Given the description of an element on the screen output the (x, y) to click on. 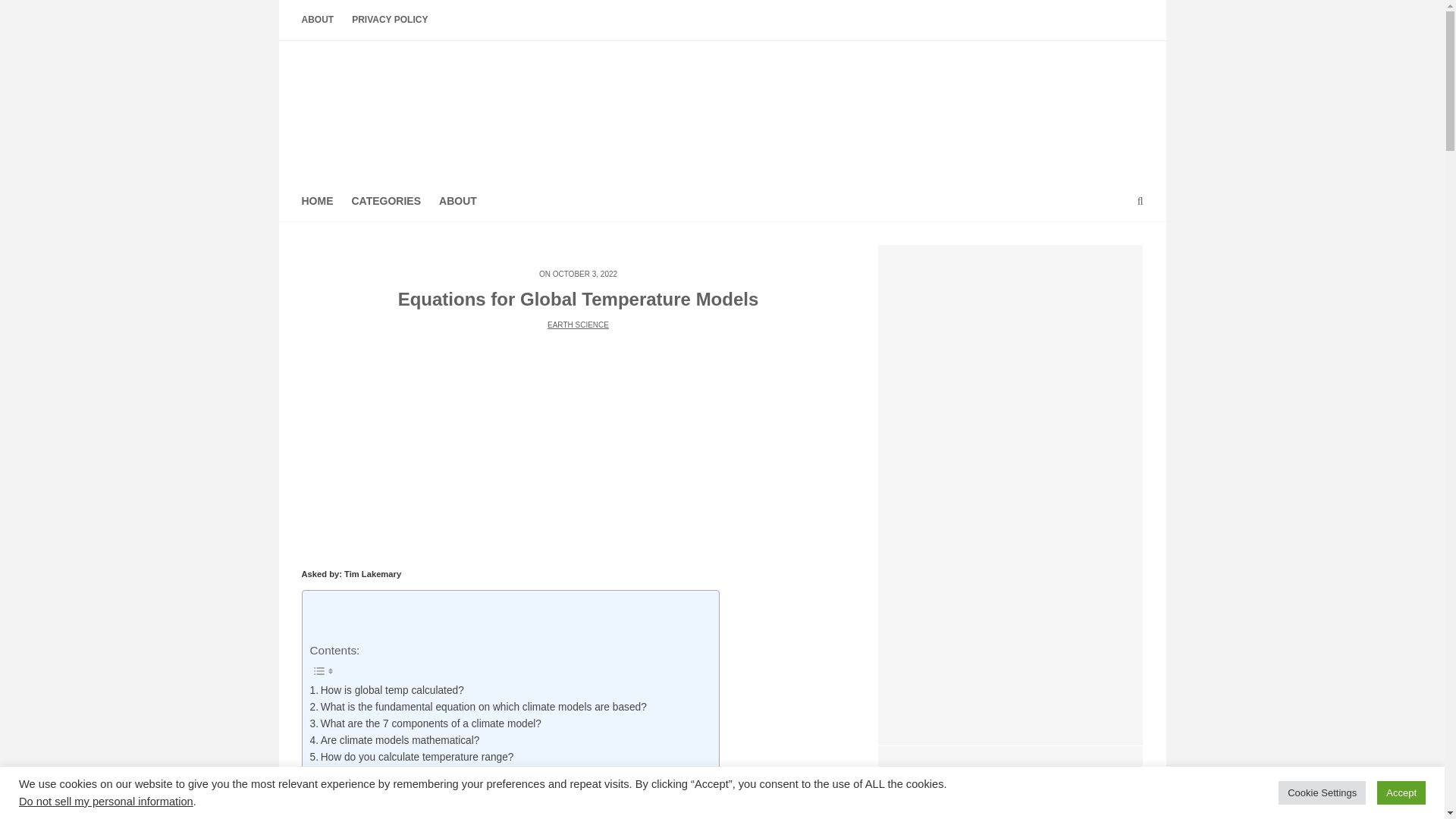
How do you make a climate model? (396, 806)
Are climate models mathematical? (393, 740)
EARTH SCIENCE (577, 325)
What are the 5 major parts of the climate system? (429, 790)
ABOUT (322, 20)
Our Planet Today (721, 106)
What are different types of climate models? (413, 816)
ABOUT (457, 200)
What are different types of climate models? (413, 816)
PRIVACY POLICY (389, 20)
What are the 7 components of a climate model? (424, 723)
How do you make a climate model? (396, 806)
Are climate models mathematical? (393, 740)
